Given the description of an element on the screen output the (x, y) to click on. 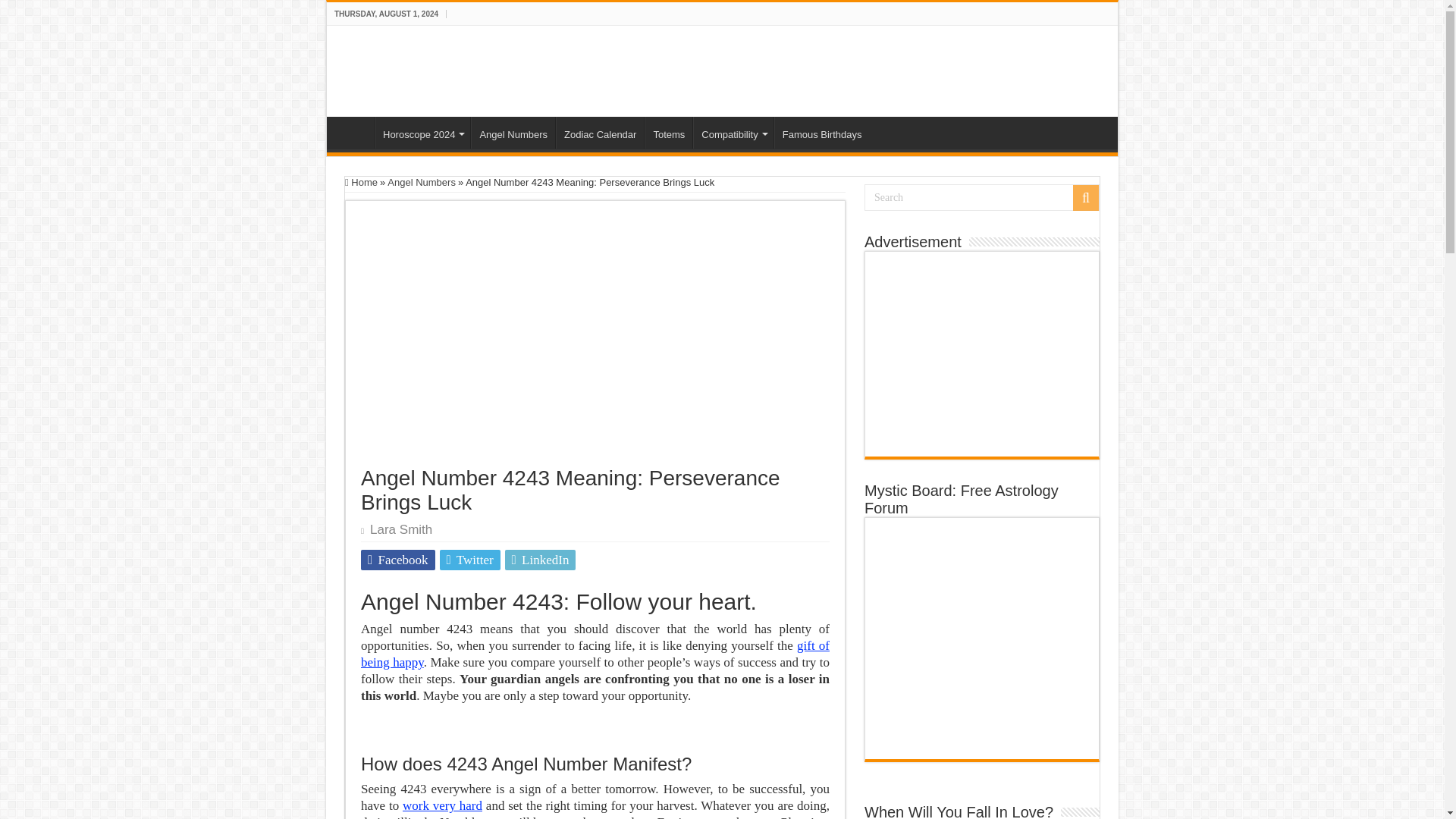
Angel Numbers (421, 182)
Totems (669, 132)
Angel Numbers (512, 132)
Sun Signs (405, 67)
Angel Numbers (512, 132)
Horoscope 2024 (422, 132)
Compatibility (733, 132)
Twitter (469, 559)
LinkedIn (540, 559)
Horoscope 2024 (422, 132)
Search (981, 197)
Famous Birthdays (821, 132)
Compatibility (733, 132)
Lara Smith (400, 529)
What Are Animal Totems (669, 132)
